Given the description of an element on the screen output the (x, y) to click on. 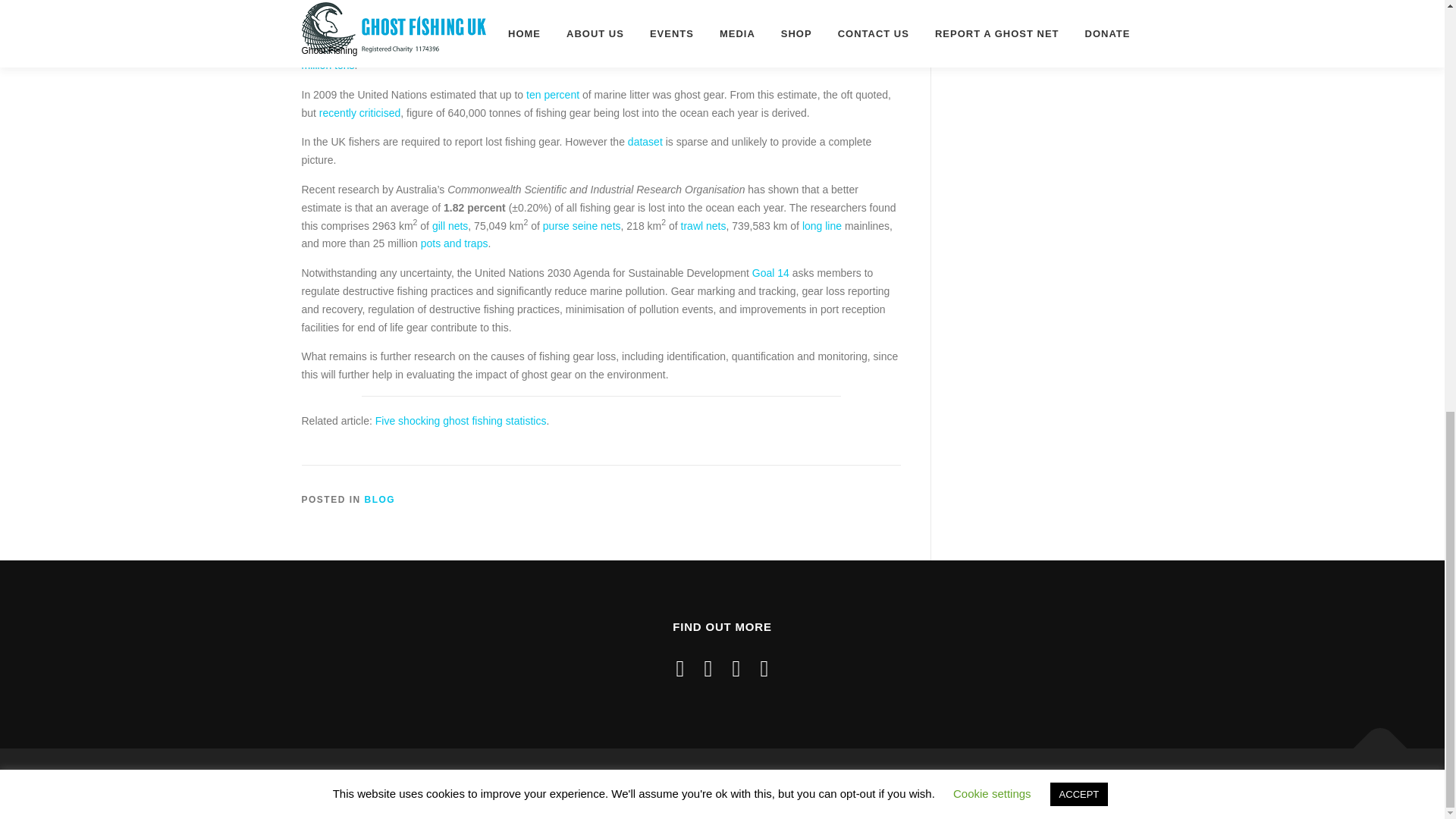
recently criticised (359, 112)
Flickr (736, 668)
Back To Top (1372, 740)
ten percent (552, 94)
Instagram (708, 668)
1350 tons (768, 28)
Twitter (764, 668)
gill nets (449, 225)
dataset (644, 141)
Facebook (680, 668)
purse seine nets (582, 225)
6.4 million tons (600, 55)
trawl nets (703, 225)
